Given the description of an element on the screen output the (x, y) to click on. 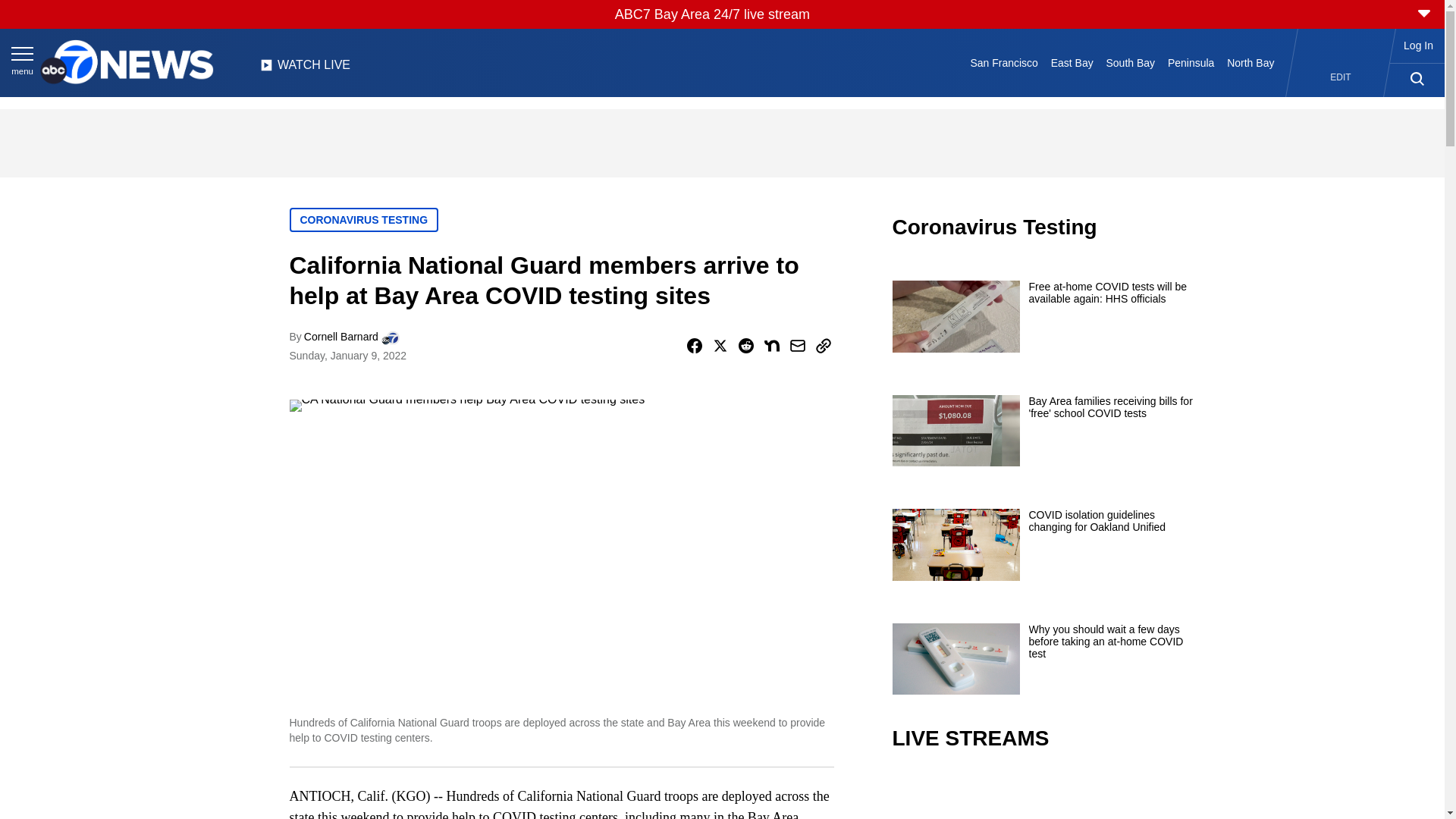
North Bay (1251, 62)
video.title (1043, 796)
WATCH LIVE (305, 69)
San Francisco (1003, 62)
South Bay (1129, 62)
EDIT (1340, 77)
East Bay (1071, 62)
Peninsula (1191, 62)
